Given the description of an element on the screen output the (x, y) to click on. 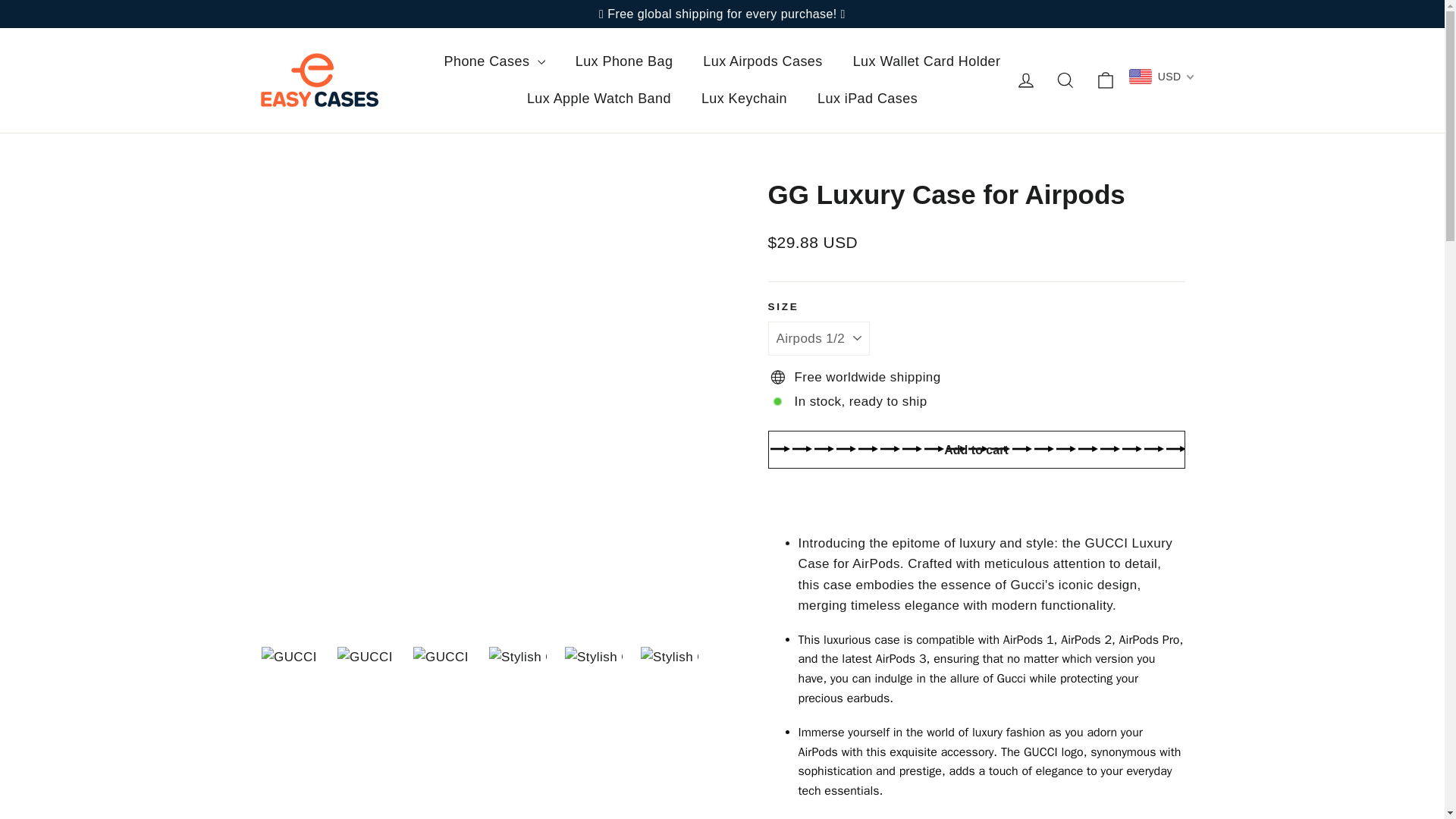
Phone Cases (494, 61)
Lux Apple Watch Band (598, 98)
Lux iPad Cases (867, 98)
Lux Phone Bag (624, 61)
Lux Airpods Cases (762, 61)
Lux Keychain (743, 98)
Lux Wallet Card Holder (927, 61)
